Given the description of an element on the screen output the (x, y) to click on. 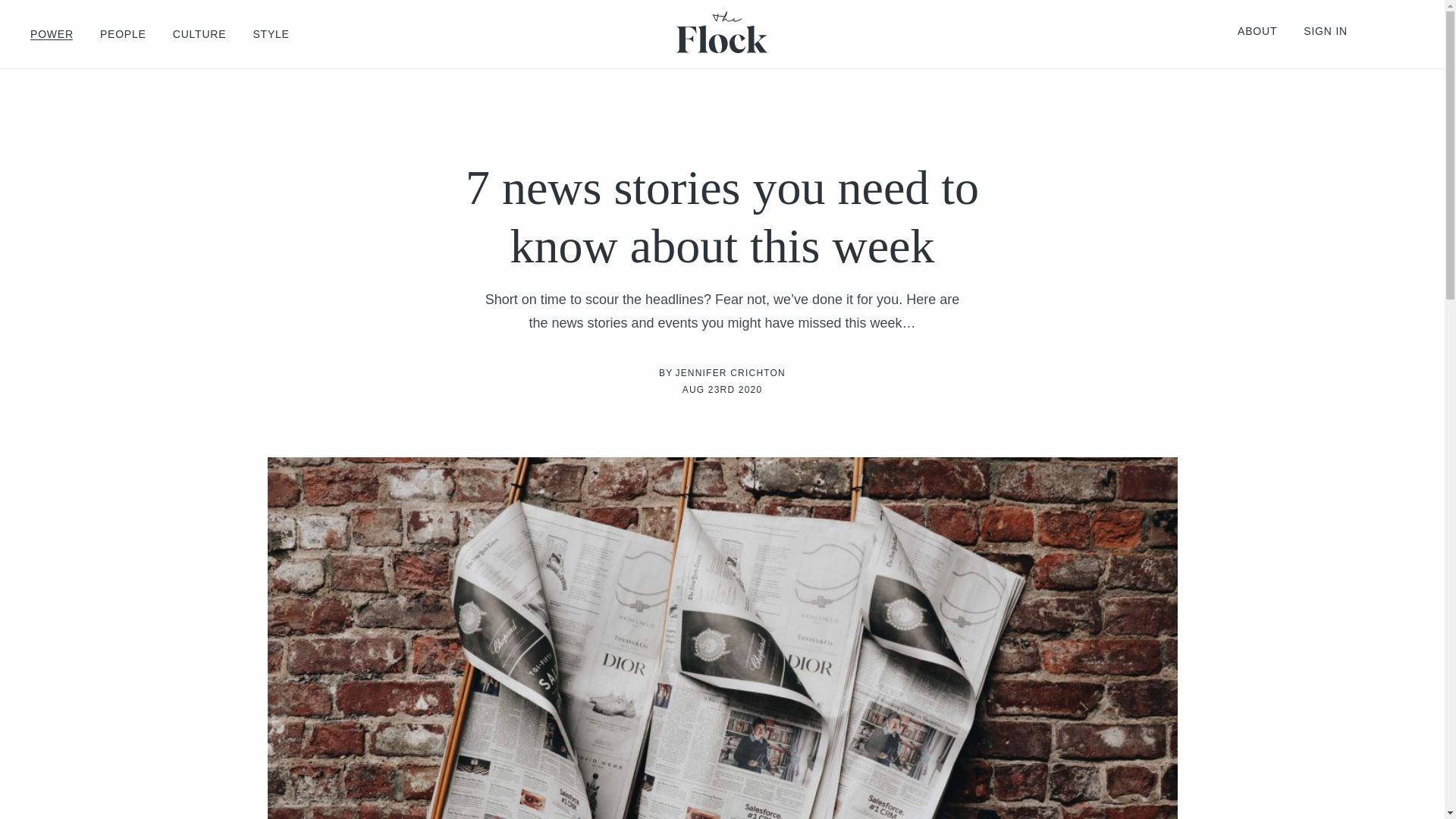
CULTURE (200, 33)
About (1256, 30)
PEOPLE (123, 33)
Style (269, 33)
People (123, 33)
STYLE (269, 33)
ABOUT (1256, 30)
Culture (200, 33)
Power (52, 33)
POWER (52, 33)
